Given the description of an element on the screen output the (x, y) to click on. 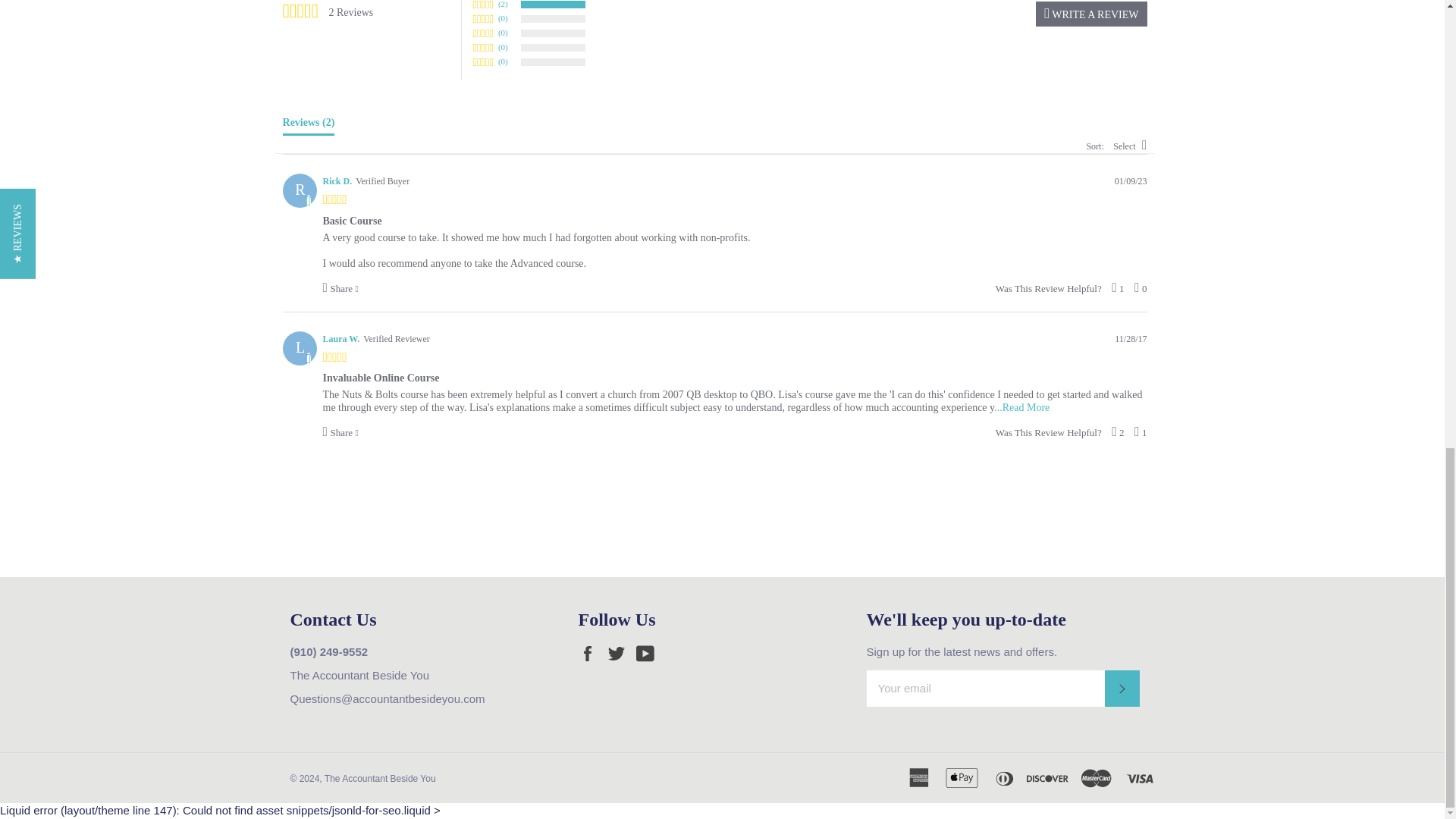
The Accountant Beside You on Twitter (620, 653)
The Accountant Beside You on Facebook (591, 653)
The Accountant Beside You on YouTube (649, 653)
